Given the description of an element on the screen output the (x, y) to click on. 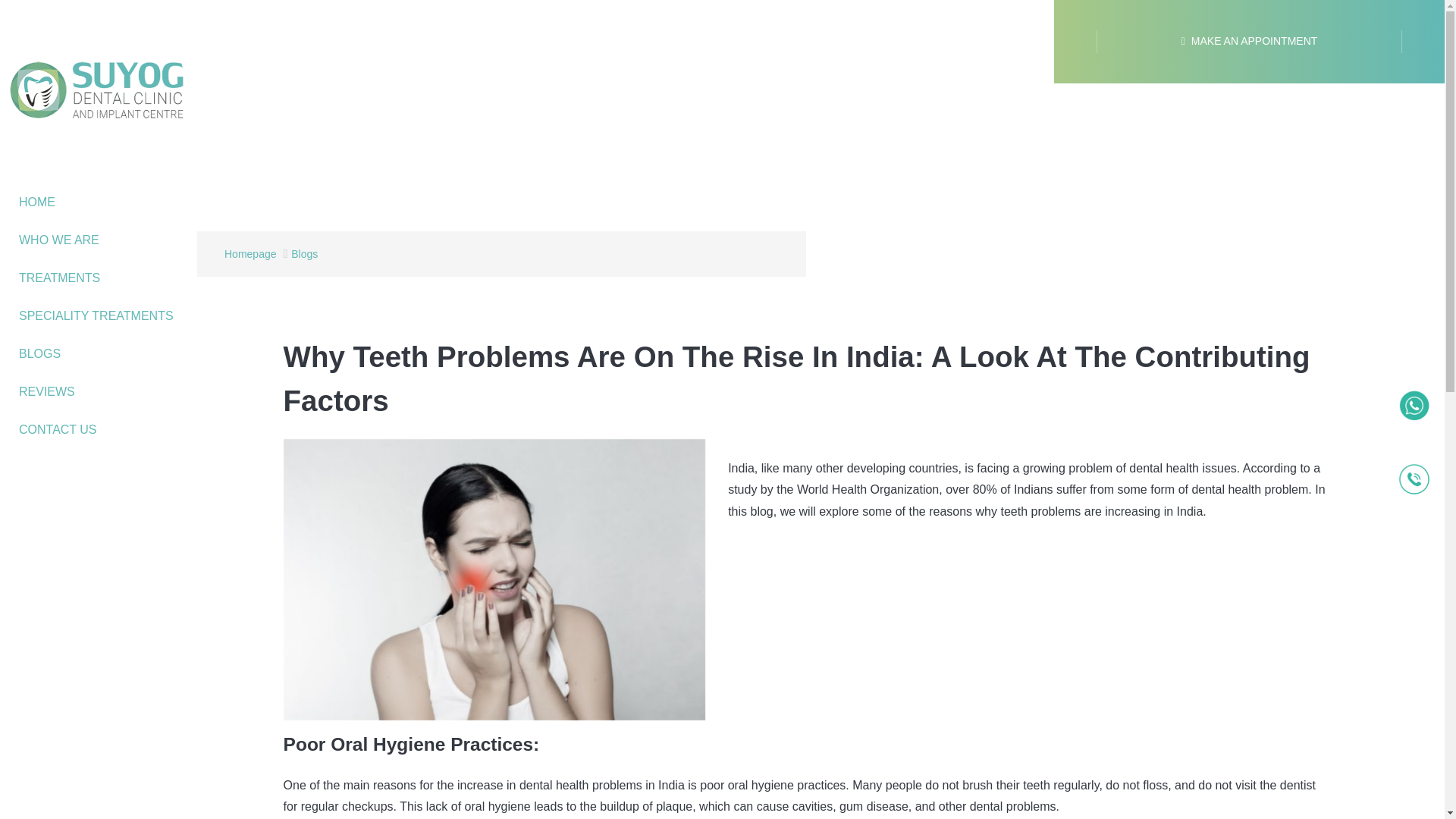
TREATMENTS (98, 278)
Homepage (250, 254)
SPECIALITY TREATMENTS (98, 315)
BLOGS (98, 353)
HOME (98, 202)
WHO WE ARE (98, 240)
Blogs (304, 254)
MAKE AN APPOINTMENT (1248, 40)
REVIEWS (98, 392)
CONTACT US (98, 429)
